Given the description of an element on the screen output the (x, y) to click on. 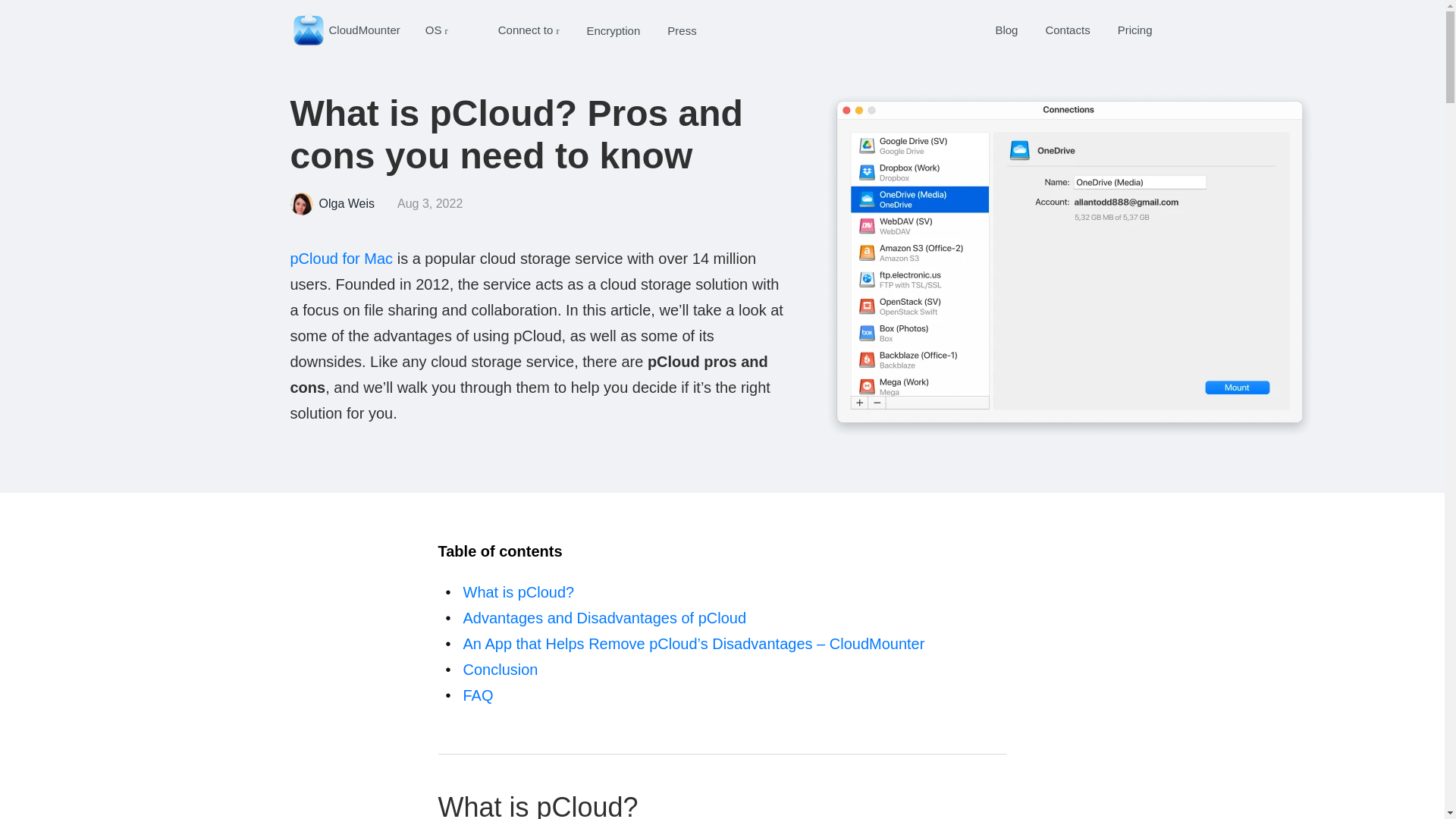
Pricing (1135, 29)
CloudMounter (343, 30)
FAQ (478, 695)
Blog (1005, 29)
Press (680, 29)
Encryption (613, 29)
Olga Weis (346, 203)
Pricing (1135, 29)
Press (680, 29)
pCloud for Mac (341, 258)
